Given the description of an element on the screen output the (x, y) to click on. 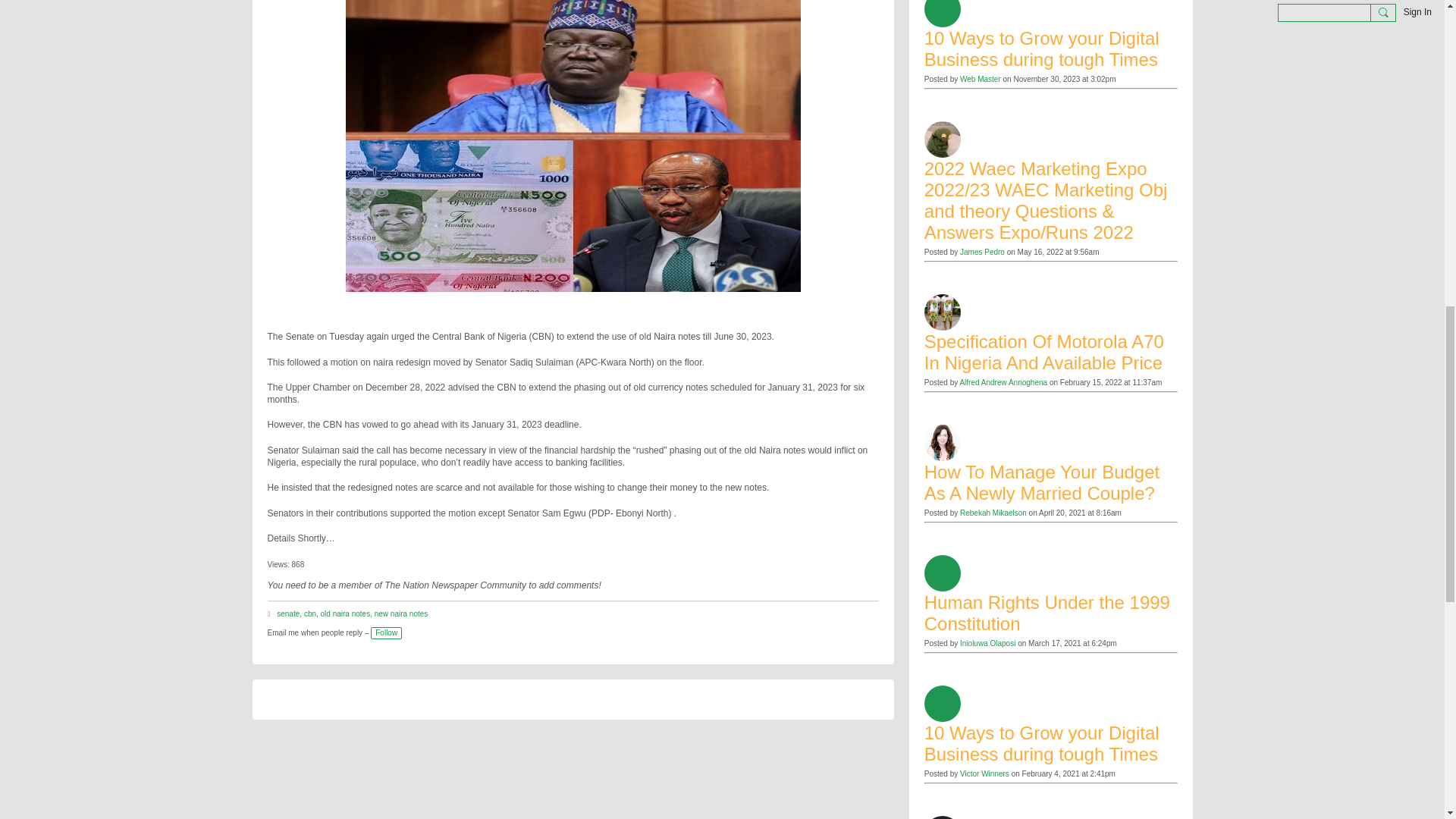
Tags: (270, 614)
senate (287, 613)
Follow (386, 633)
new naira notes (401, 613)
old naira notes (345, 613)
Web Master (980, 79)
10 Ways to Grow your Digital Business during tough Times (1050, 48)
cbn (309, 613)
